Given the description of an element on the screen output the (x, y) to click on. 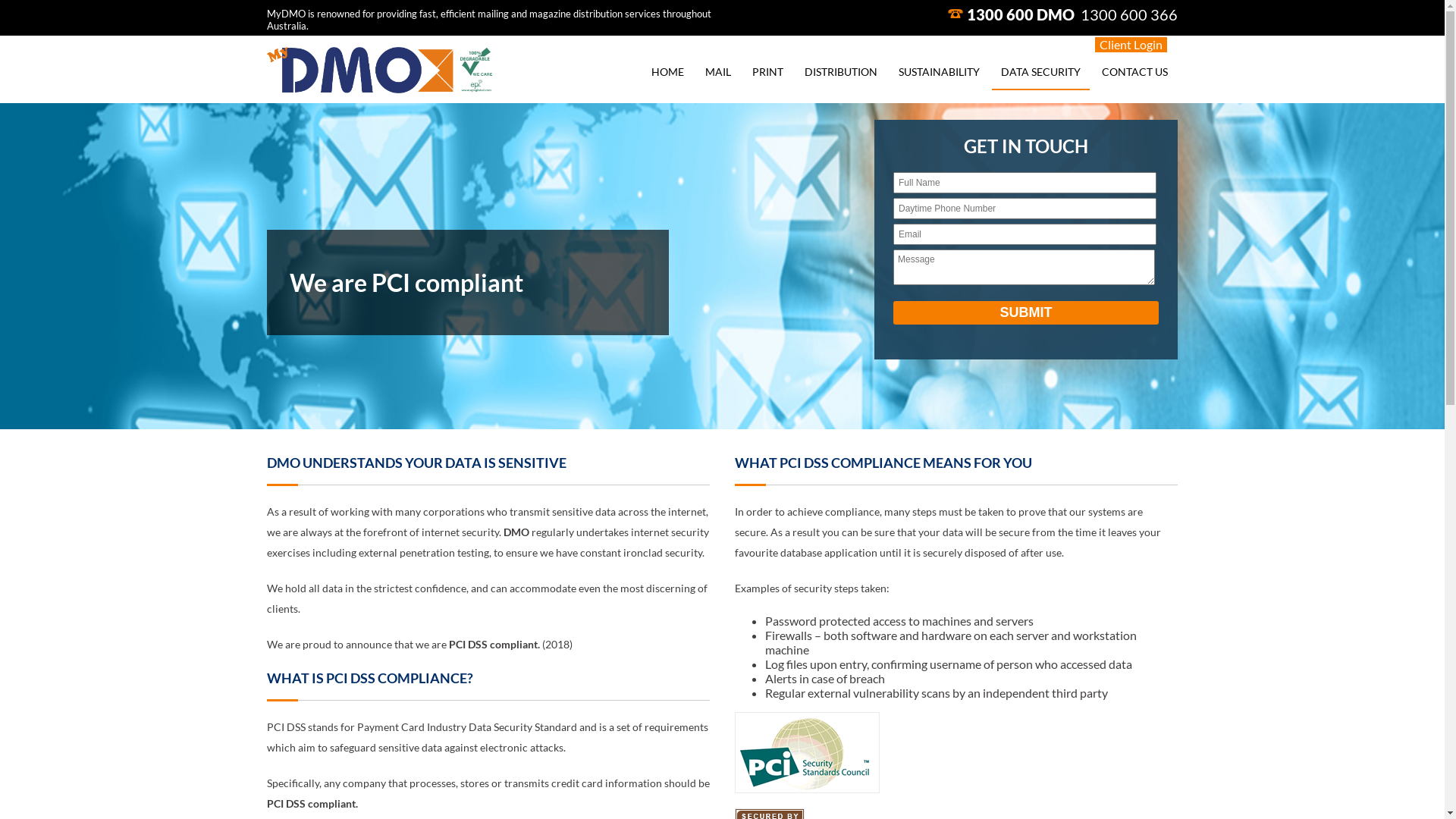
DISTRIBUTION Element type: text (840, 72)
CONTACT US Element type: text (1134, 72)
DMO Element type: hover (380, 88)
DATA SECURITY Element type: text (1040, 72)
1300 600 366 Element type: text (1128, 14)
HOME Element type: text (667, 72)
PRINT Element type: text (767, 72)
Submit Element type: text (1025, 312)
MAIL Element type: text (718, 72)
SUSTAINABILITY Element type: text (938, 72)
1300 600 Element type: text (999, 14)
Client Login Element type: text (1131, 44)
DMO Element type: text (1053, 14)
